Given the description of an element on the screen output the (x, y) to click on. 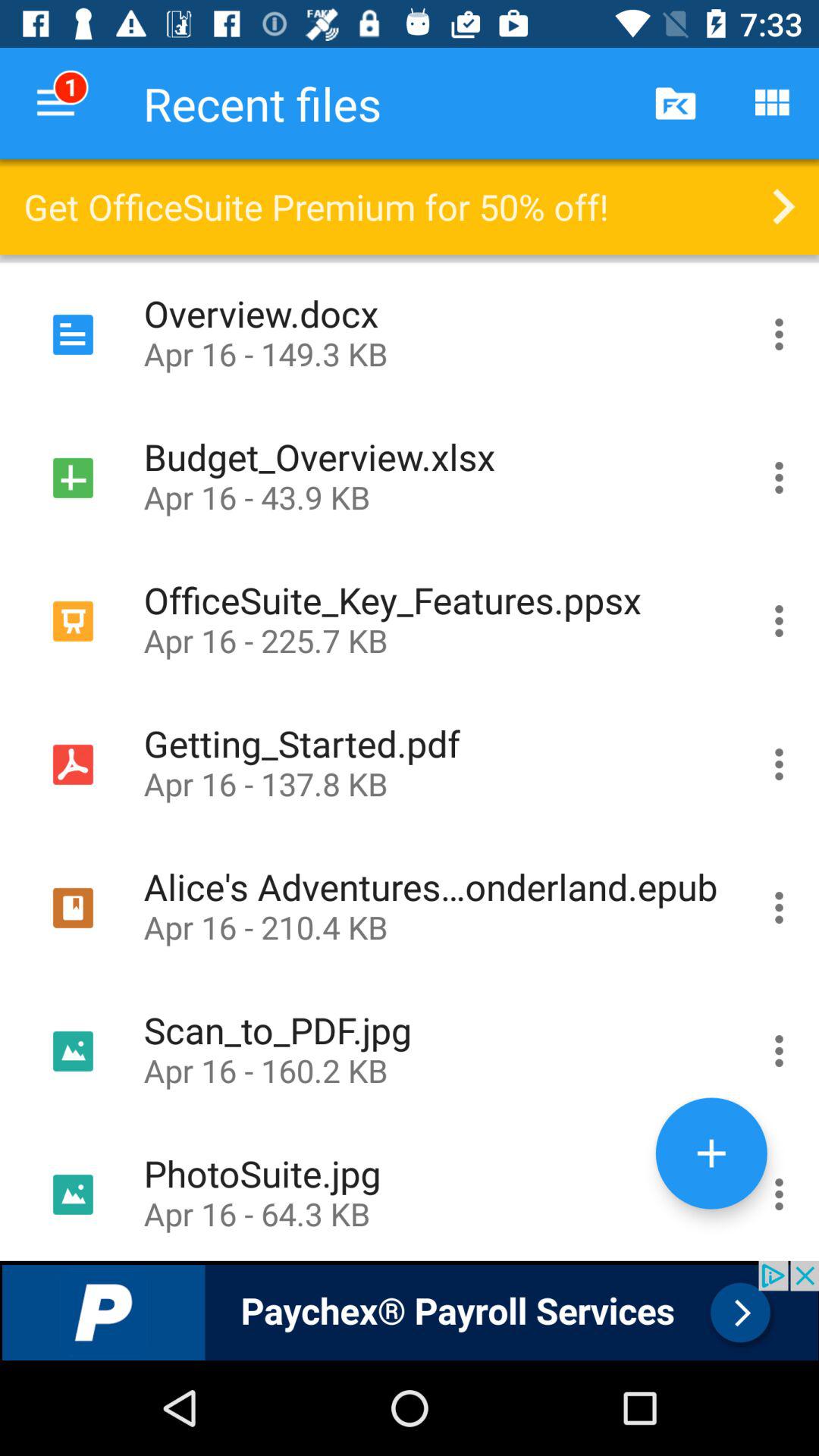
open hamburger-menu (779, 334)
